Given the description of an element on the screen output the (x, y) to click on. 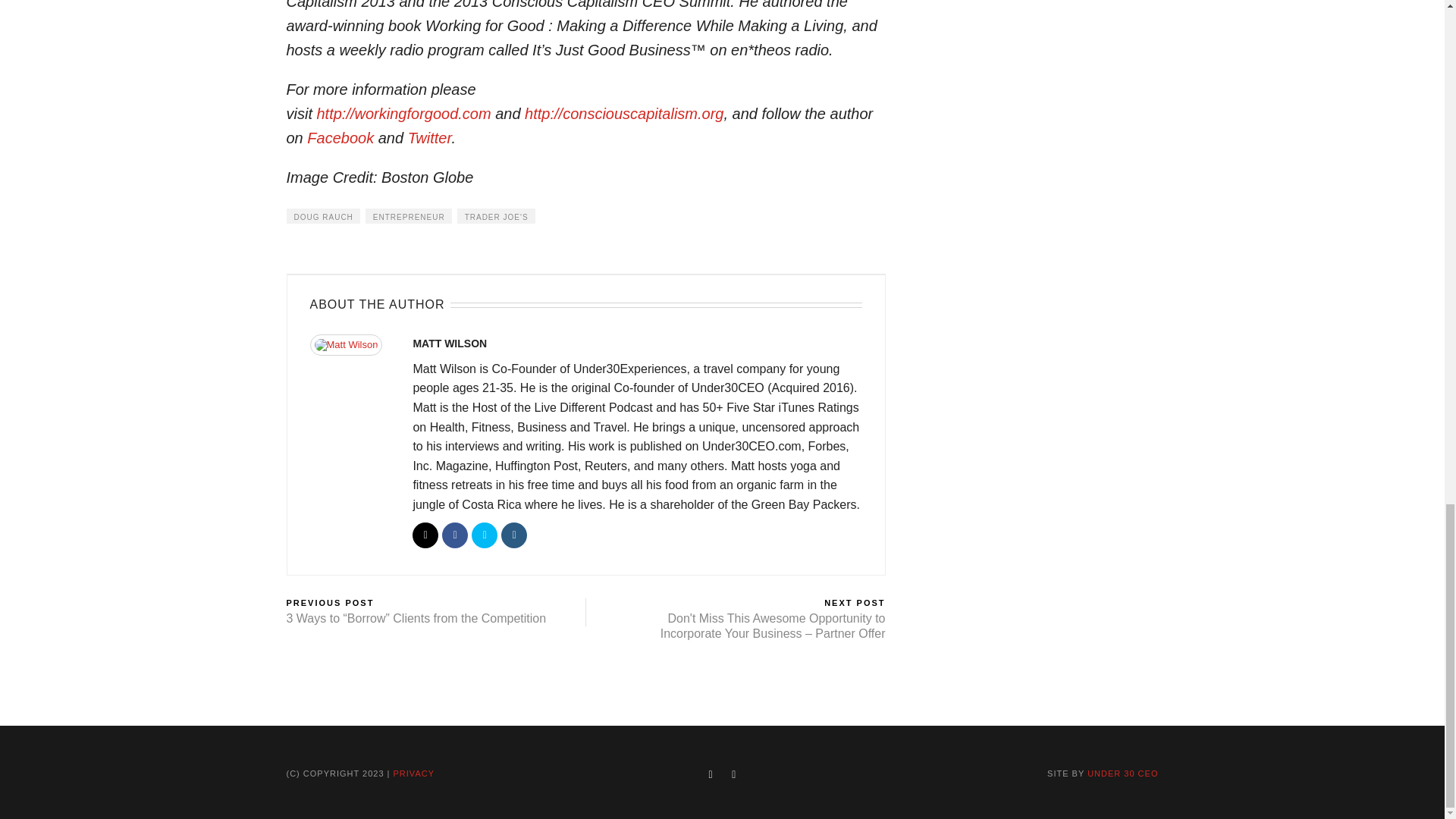
Twitter (429, 137)
ENTREPRENEUR (408, 215)
DOUG RAUCH (322, 215)
Instagram (513, 534)
Facebook (340, 137)
Twitter (484, 534)
Visit Author Page (352, 349)
Posts by Matt Wilson (449, 343)
TRADER JOE'S (496, 215)
Matt Wilson 's site (425, 534)
Facebook (454, 534)
